Given the description of an element on the screen output the (x, y) to click on. 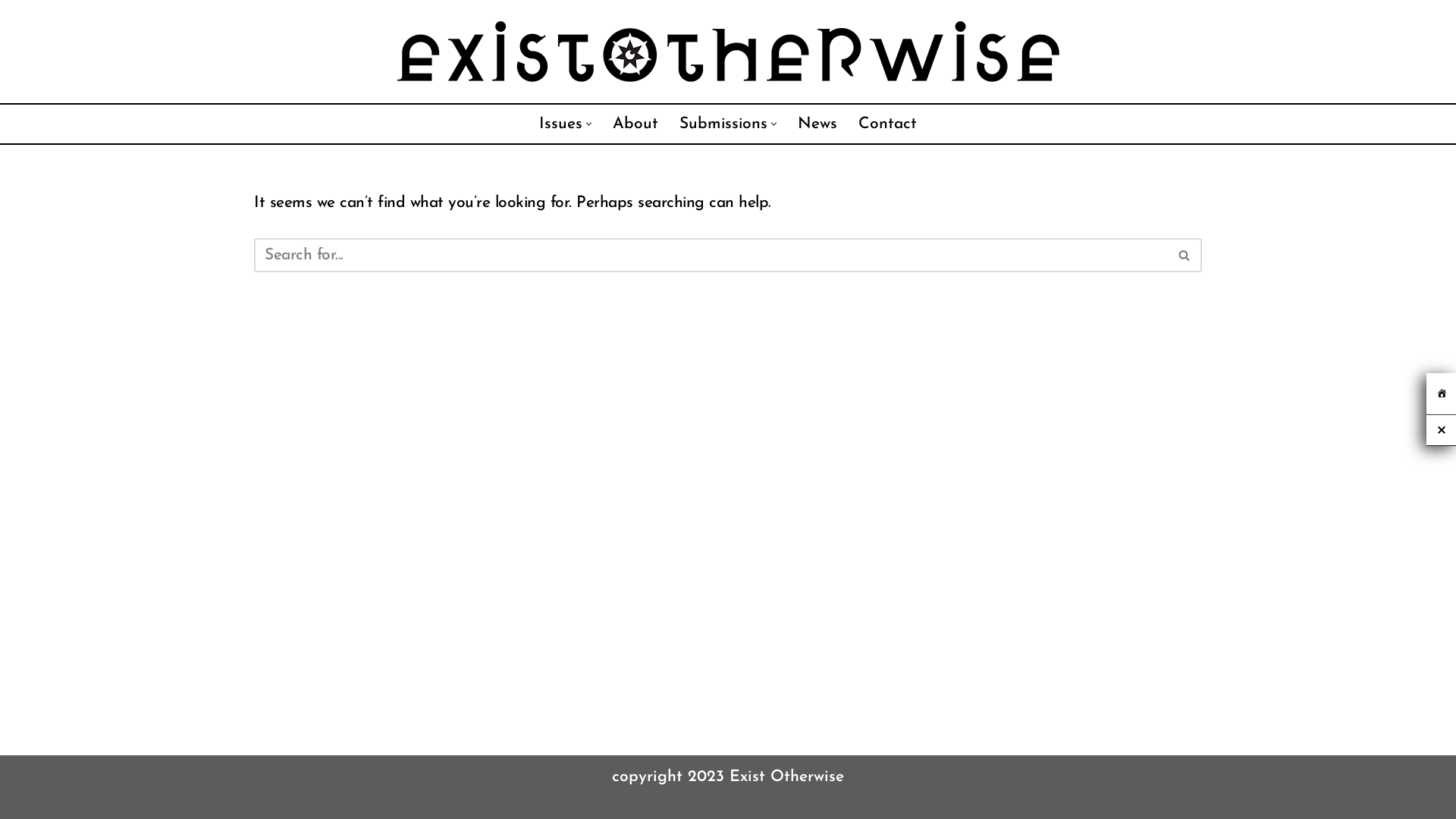
Contact Element type: text (887, 123)
Skip to content Element type: text (11, 31)
Submissions Element type: text (723, 123)
About Element type: text (635, 123)
News Element type: text (817, 123)
Issues Element type: text (560, 123)
